Given the description of an element on the screen output the (x, y) to click on. 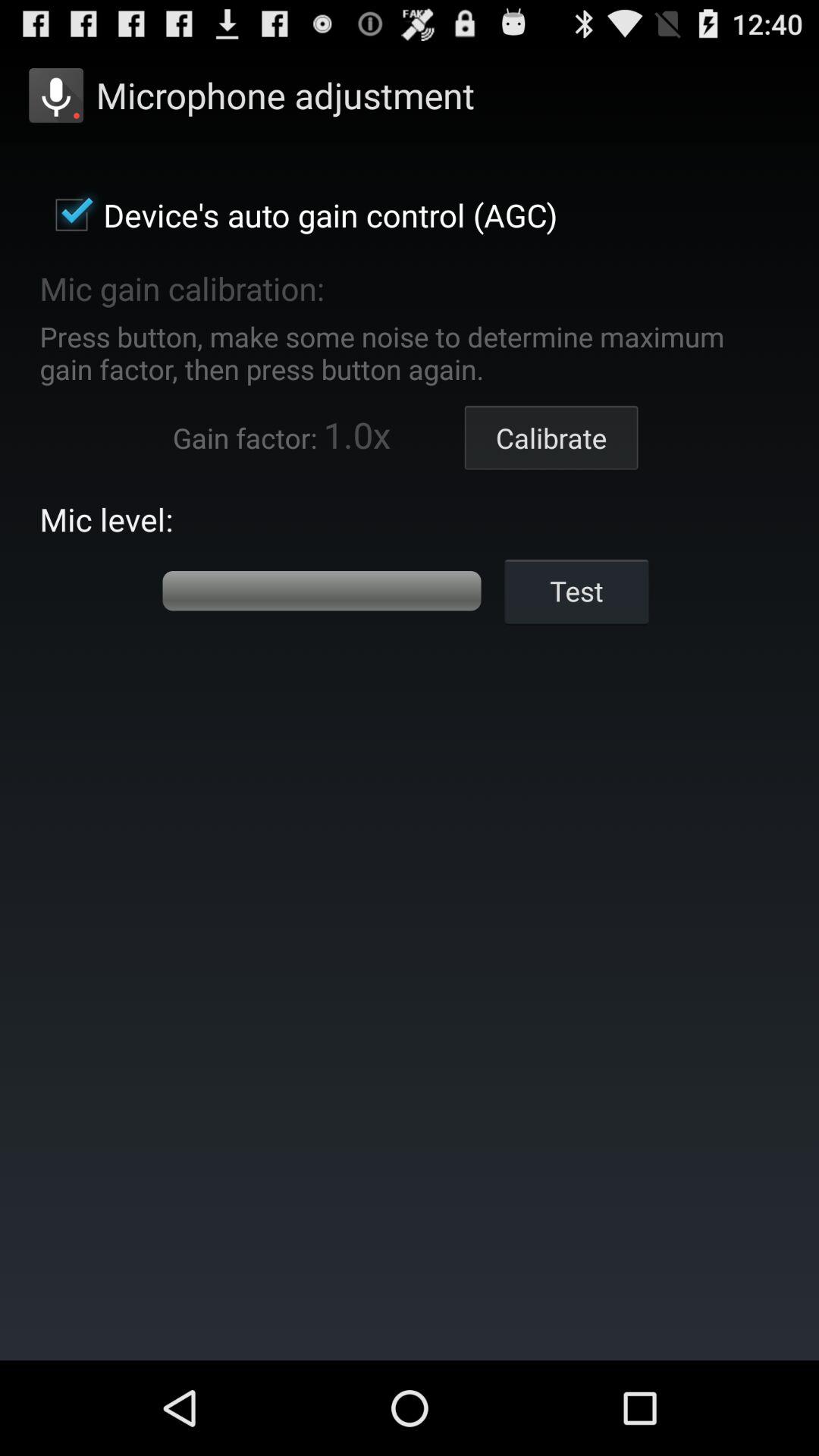
turn off app above the mic gain calibration: icon (298, 214)
